Given the description of an element on the screen output the (x, y) to click on. 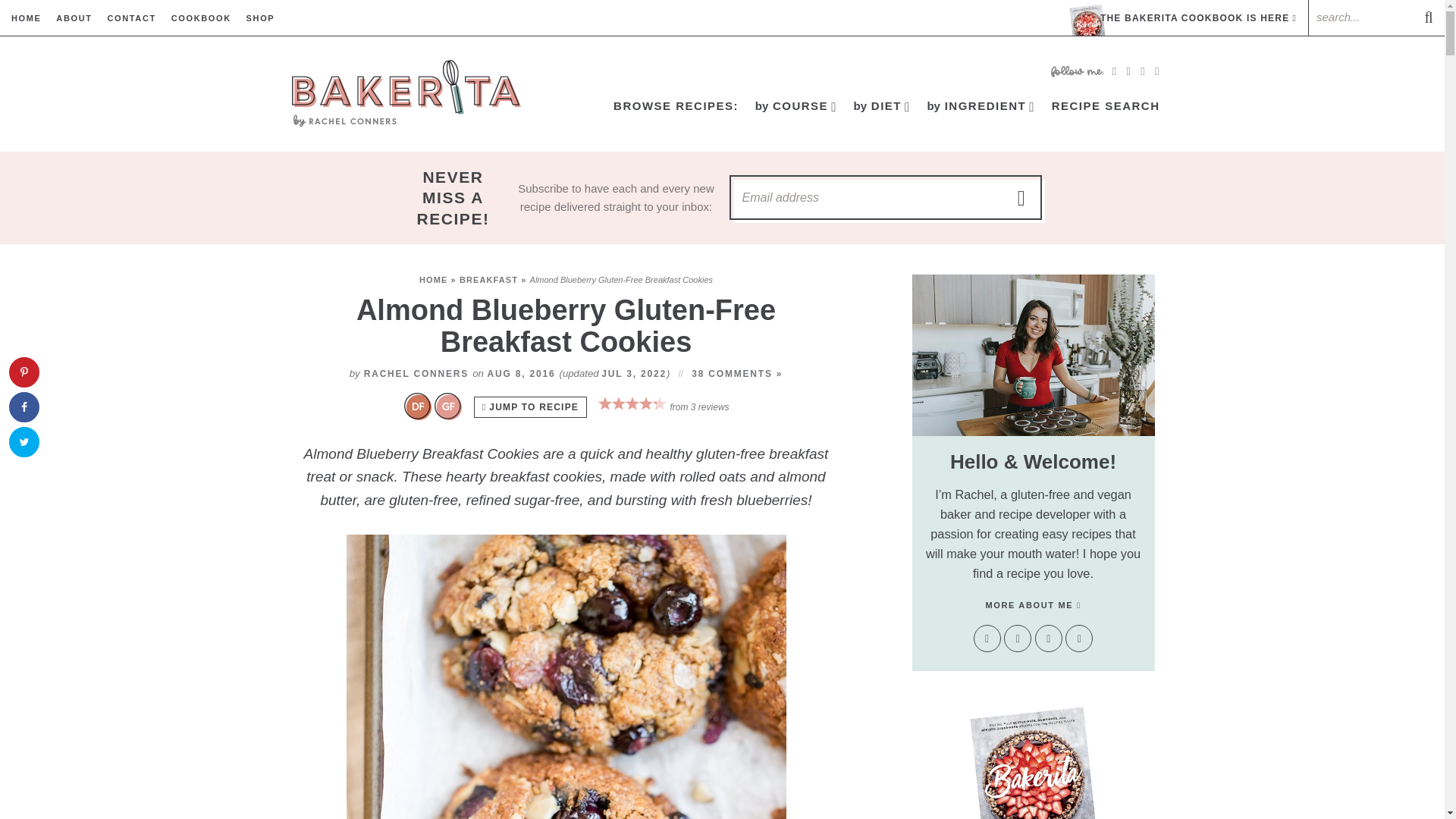
Save to Pinterest (23, 372)
More About Me (1032, 354)
BROWSE RECIPES: (675, 105)
Share on Facebook (23, 407)
HOME (26, 17)
by DIET (881, 105)
COOKBOOK (201, 17)
Share on Twitter (23, 441)
THE BAKERITA COOKBOOK IS HERE (1182, 18)
by COURSE (795, 105)
ABOUT (73, 17)
Buy Now (1032, 765)
SHOP (260, 17)
Bakerita (405, 93)
CONTACT (130, 17)
